Given the description of an element on the screen output the (x, y) to click on. 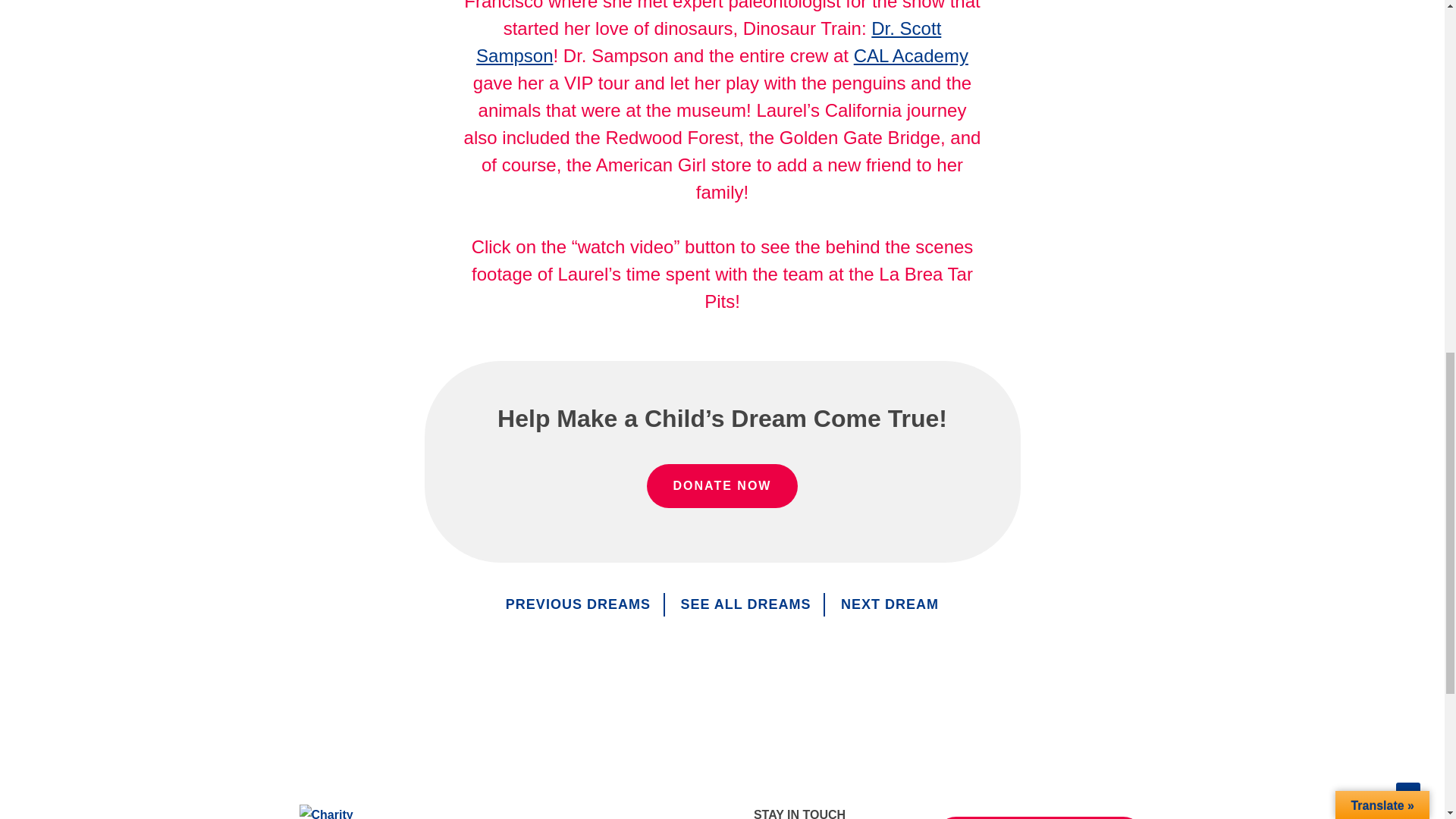
SEE ALL DREAMS (744, 604)
CAL Academy (910, 55)
PREVIOUS DREAMS (577, 604)
NEXT DREAM (890, 604)
Dr. Scott Sampson (708, 42)
DONATE NOW (721, 485)
